Given the description of an element on the screen output the (x, y) to click on. 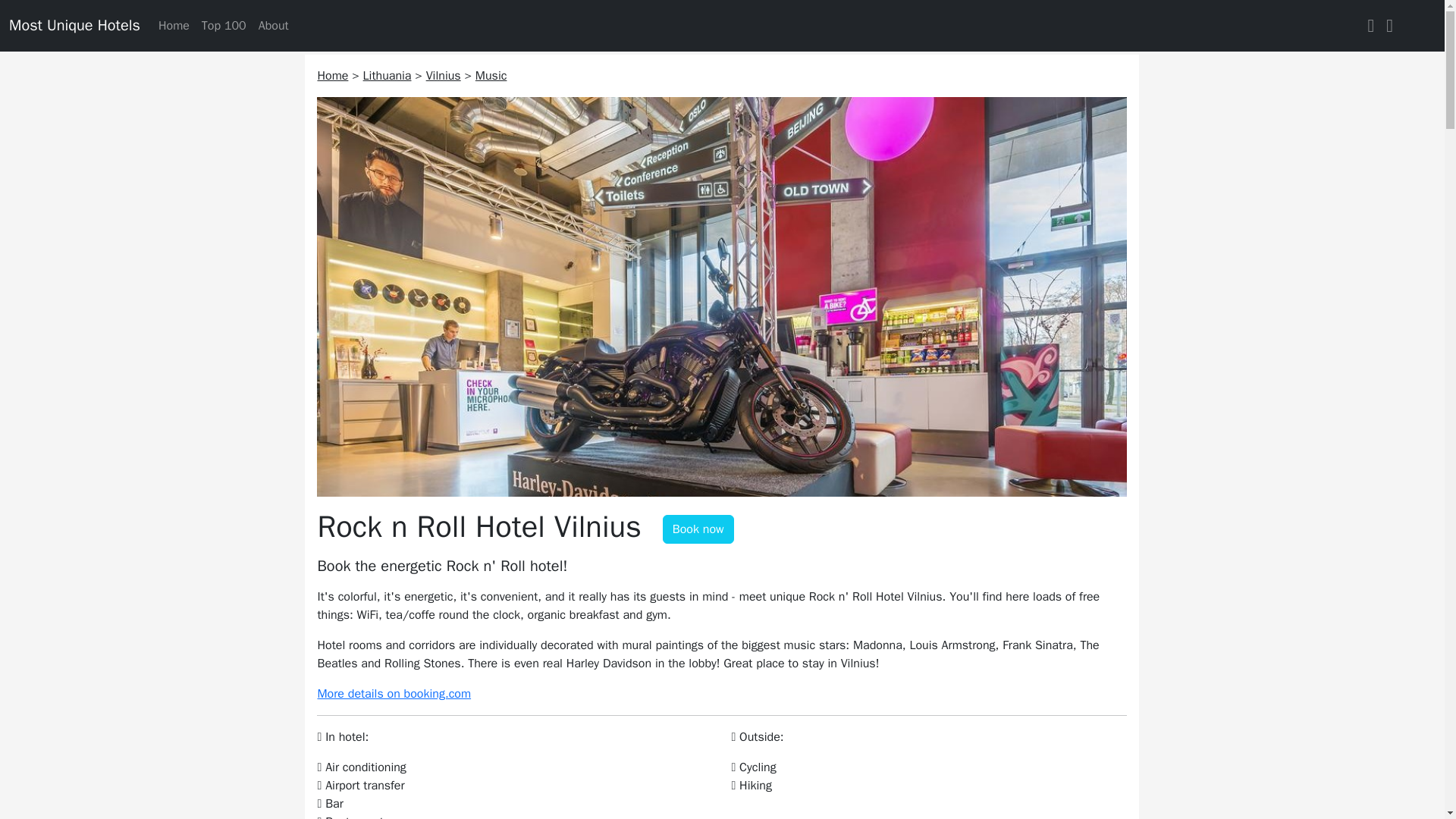
Tooltip on left (697, 529)
Book now (697, 529)
More details on booking.com (393, 693)
Lithuania (387, 75)
About (273, 25)
Home (332, 75)
Top 100 (223, 25)
Most Unique Hotels (73, 25)
Vilnius (443, 75)
Music (491, 75)
